Given the description of an element on the screen output the (x, y) to click on. 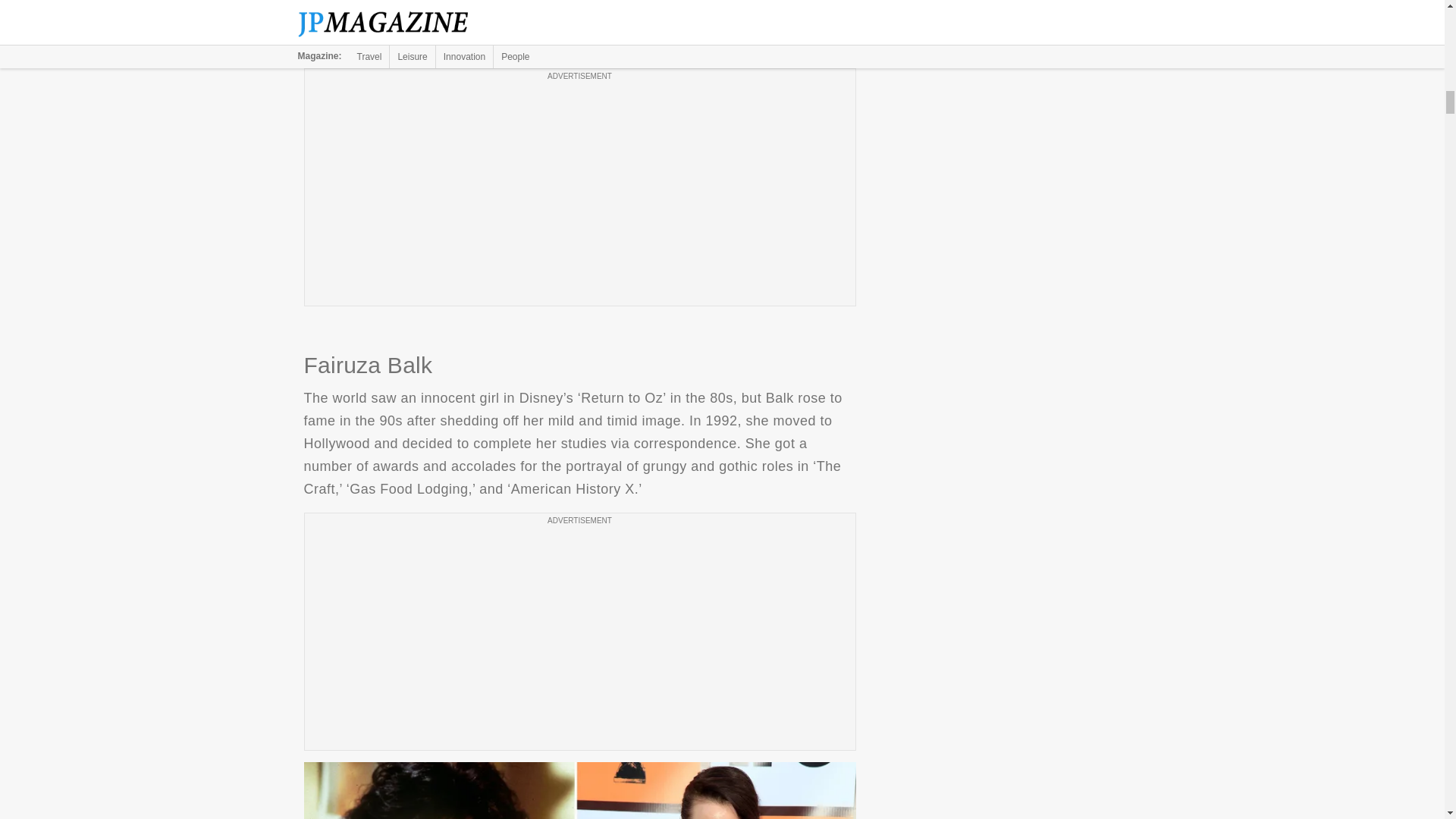
Fairuza Balk (579, 790)
